Given the description of an element on the screen output the (x, y) to click on. 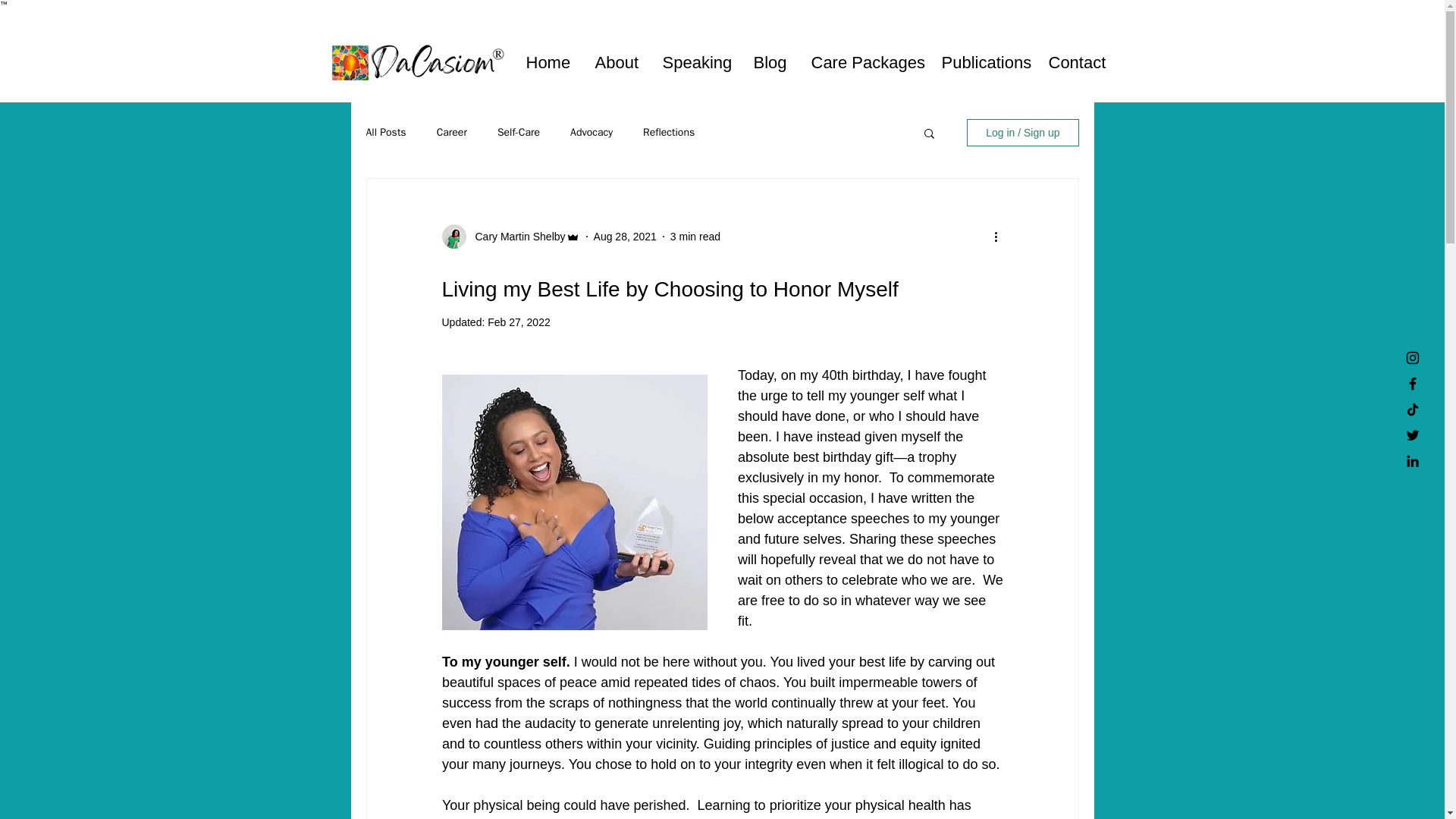
Contact (1077, 62)
Reflections (668, 132)
Self-Care (518, 132)
Cary Martin Shelby (514, 236)
Career (451, 132)
Blog (770, 62)
Publications (983, 62)
Care Packages (864, 62)
3 min read (694, 236)
Speaking (695, 62)
Advocacy (591, 132)
Feb 27, 2022 (518, 322)
Home (548, 62)
About (616, 62)
All Posts (385, 132)
